Given the description of an element on the screen output the (x, y) to click on. 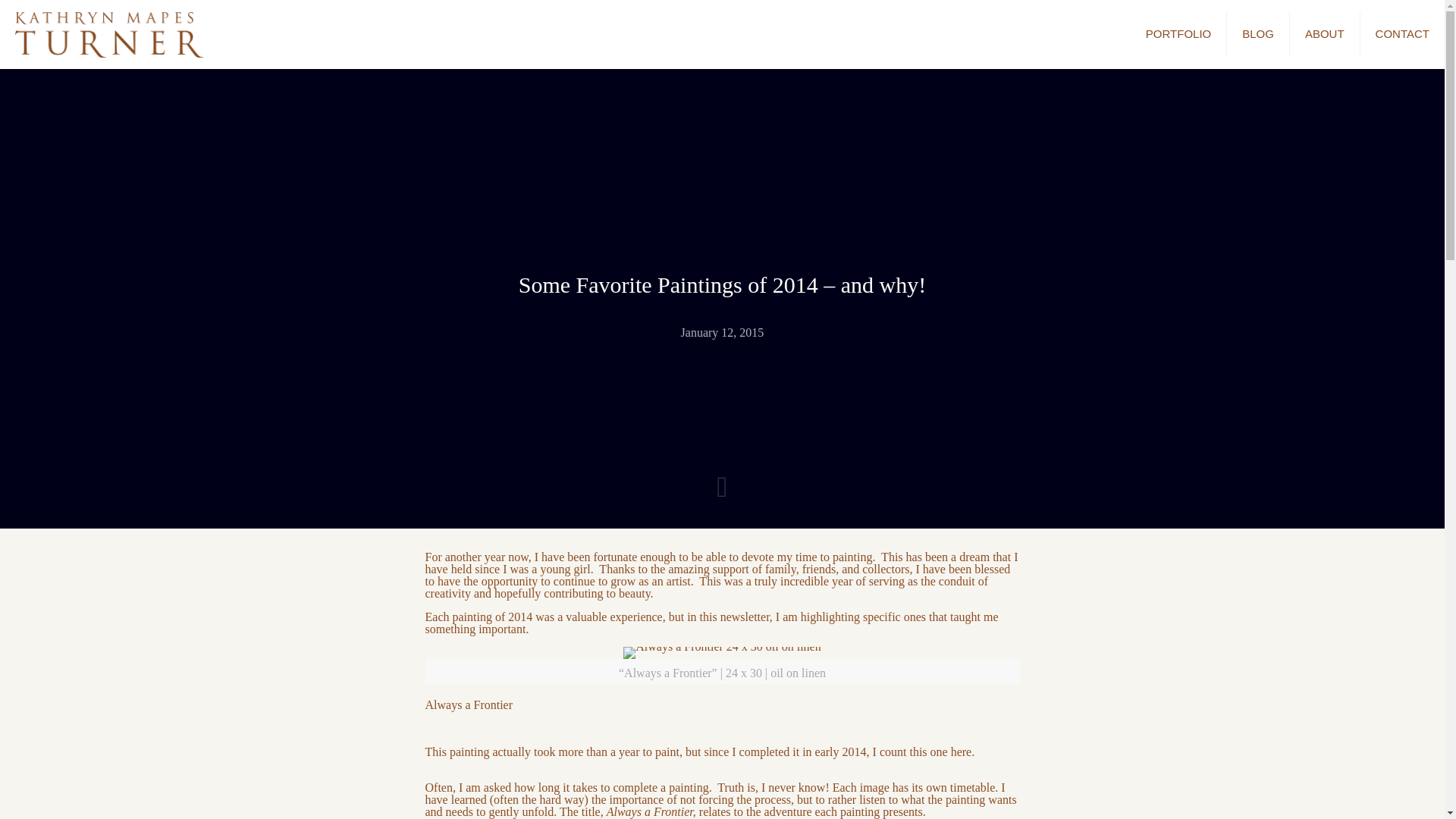
ABOUT (1324, 33)
BLOG (1258, 33)
Kathryn Mapes Turner (108, 33)
PORTFOLIO (1179, 33)
